Given the description of an element on the screen output the (x, y) to click on. 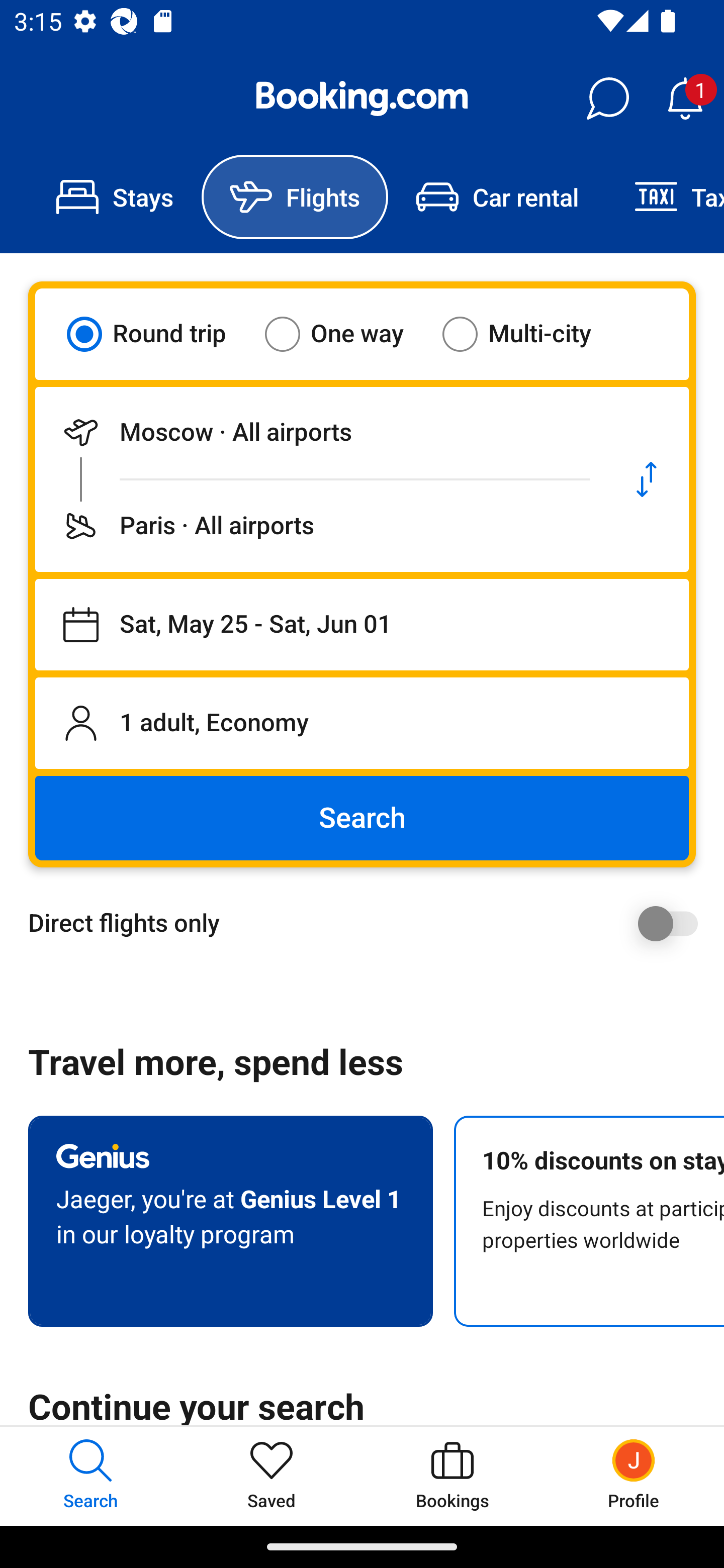
Messages (607, 98)
Notifications (685, 98)
Stays (114, 197)
Flights (294, 197)
Car rental (497, 197)
Taxi (665, 197)
One way (346, 333)
Multi-city (528, 333)
Departing from Moscow · All airports (319, 432)
Swap departure location and destination (646, 479)
Flying to Paris · All airports (319, 525)
Departing on Sat, May 25, returning on Sat, Jun 01 (361, 624)
1 adult, Economy (361, 722)
Search (361, 818)
Direct flights only (369, 923)
Saved (271, 1475)
Bookings (452, 1475)
Profile (633, 1475)
